Given the description of an element on the screen output the (x, y) to click on. 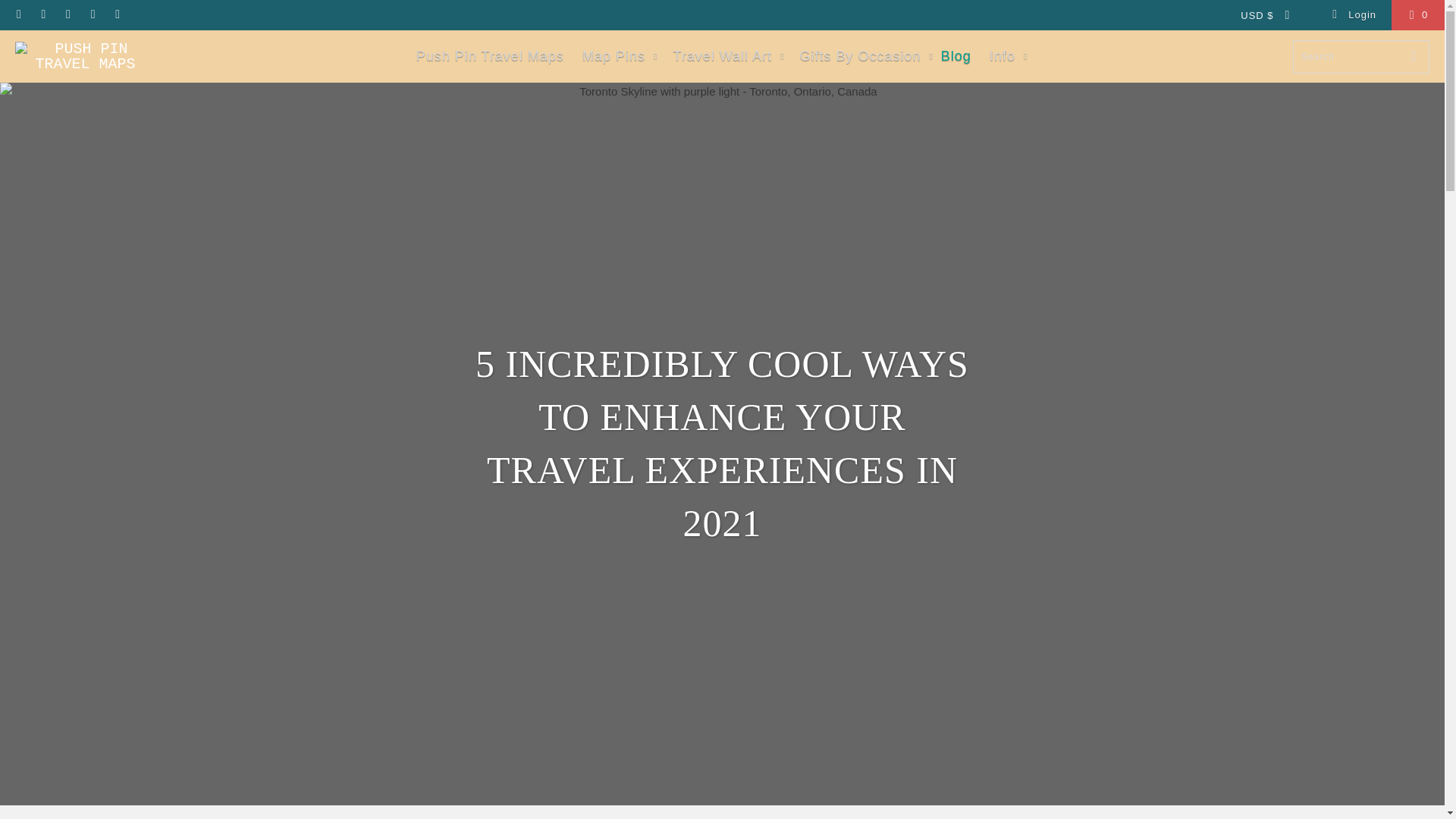
Push Pin Travel Maps on Instagram (92, 14)
Push Pin Travel Maps on Pinterest (67, 14)
Email Push Pin Travel Maps (116, 14)
Push Pin Travel Maps on Facebook (42, 14)
Push Pin Travel Maps on Twitter (17, 14)
My Account  (1353, 15)
Push Pin Travel Maps (84, 55)
